Given the description of an element on the screen output the (x, y) to click on. 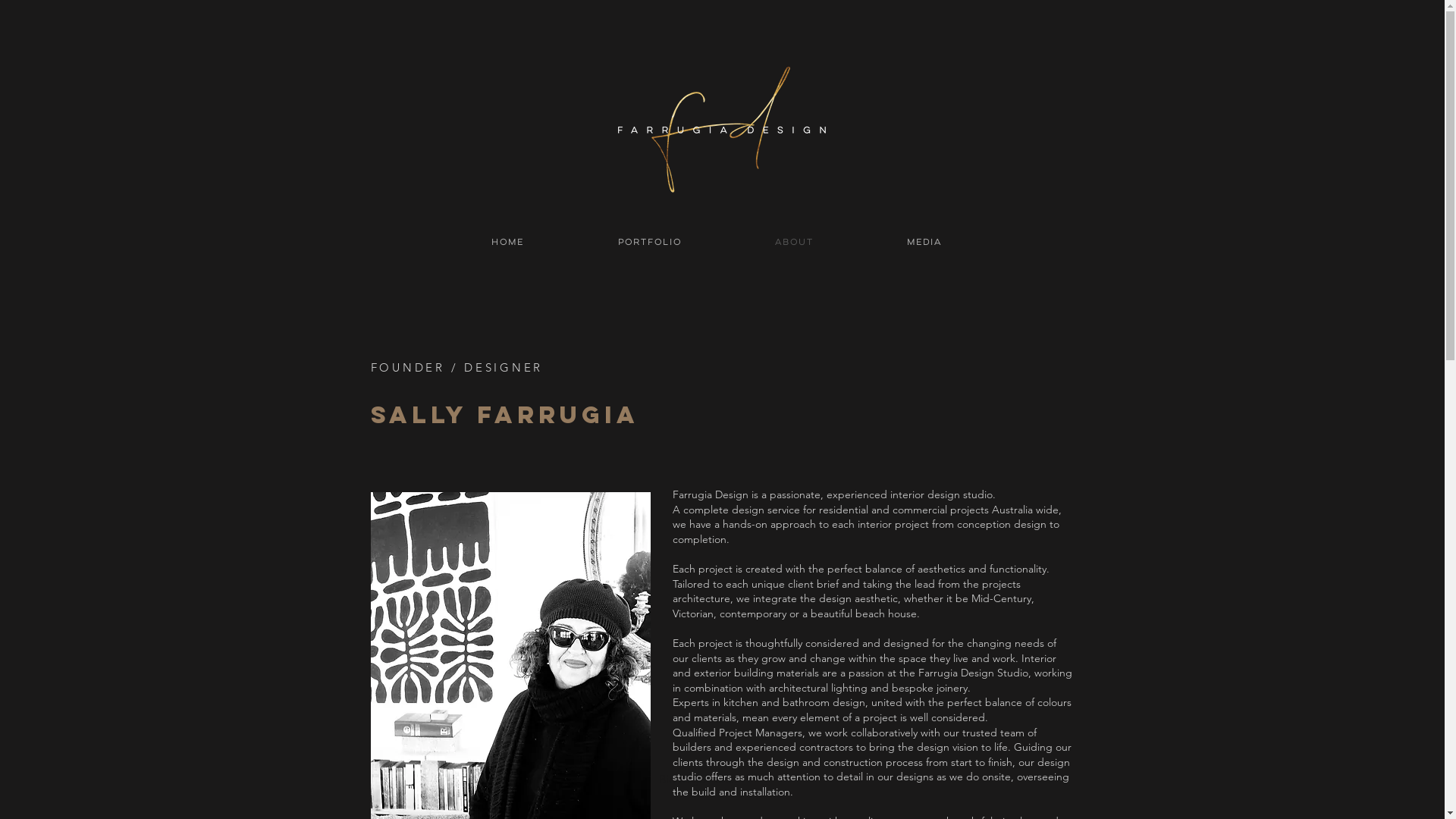
MEDIA Element type: text (923, 242)
HOME Element type: text (507, 242)
ABOUT Element type: text (793, 242)
PORTFOLIO Element type: text (649, 242)
